Given the description of an element on the screen output the (x, y) to click on. 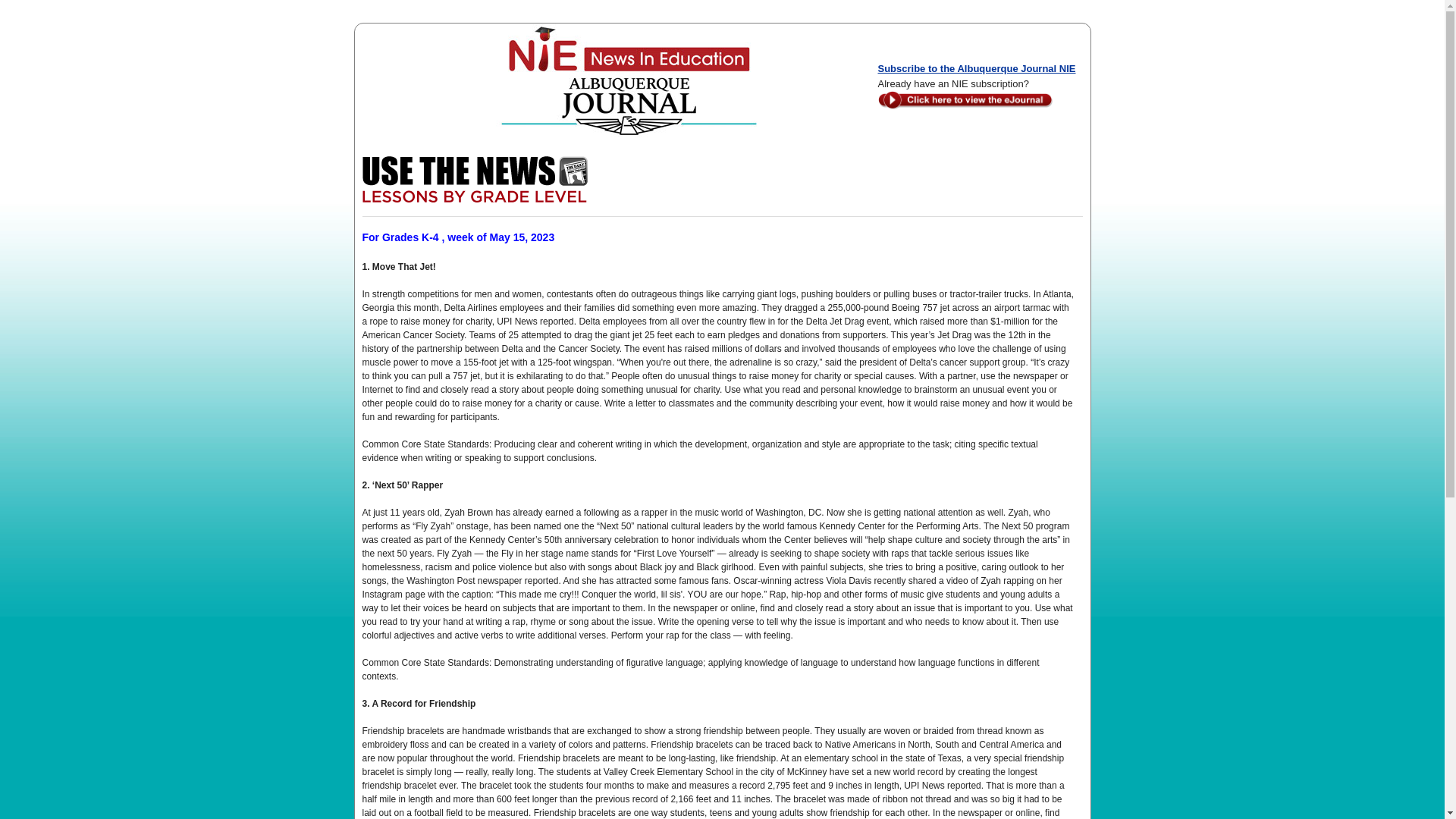
Subscribe to the Albuquerque Journal NIE (976, 68)
